Given the description of an element on the screen output the (x, y) to click on. 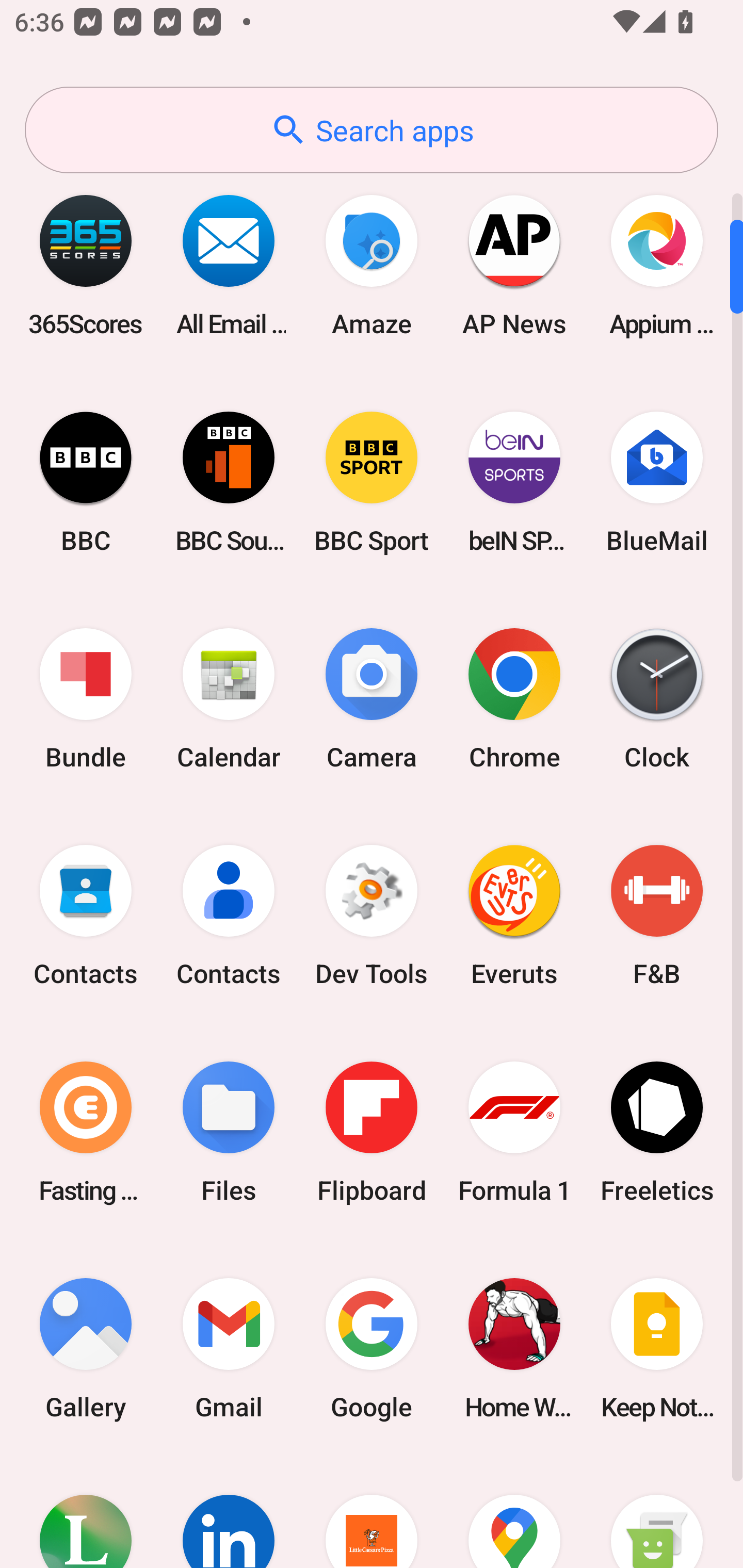
  Search apps (371, 130)
365Scores (85, 264)
All Email Connect (228, 264)
Amaze (371, 264)
AP News (514, 264)
Appium Settings (656, 264)
BBC (85, 482)
BBC Sounds (228, 482)
BBC Sport (371, 482)
beIN SPORTS (514, 482)
BlueMail (656, 482)
Bundle (85, 699)
Calendar (228, 699)
Camera (371, 699)
Chrome (514, 699)
Clock (656, 699)
Contacts (85, 915)
Contacts (228, 915)
Dev Tools (371, 915)
Everuts (514, 915)
F&B (656, 915)
Fasting Coach (85, 1131)
Files (228, 1131)
Flipboard (371, 1131)
Formula 1 (514, 1131)
Freeletics (656, 1131)
Gallery (85, 1348)
Gmail (228, 1348)
Google (371, 1348)
Home Workout (514, 1348)
Keep Notes (656, 1348)
Lifesum (85, 1512)
LinkedIn (228, 1512)
Little Caesars Pizza (371, 1512)
Maps (514, 1512)
Messaging (656, 1512)
